Given the description of an element on the screen output the (x, y) to click on. 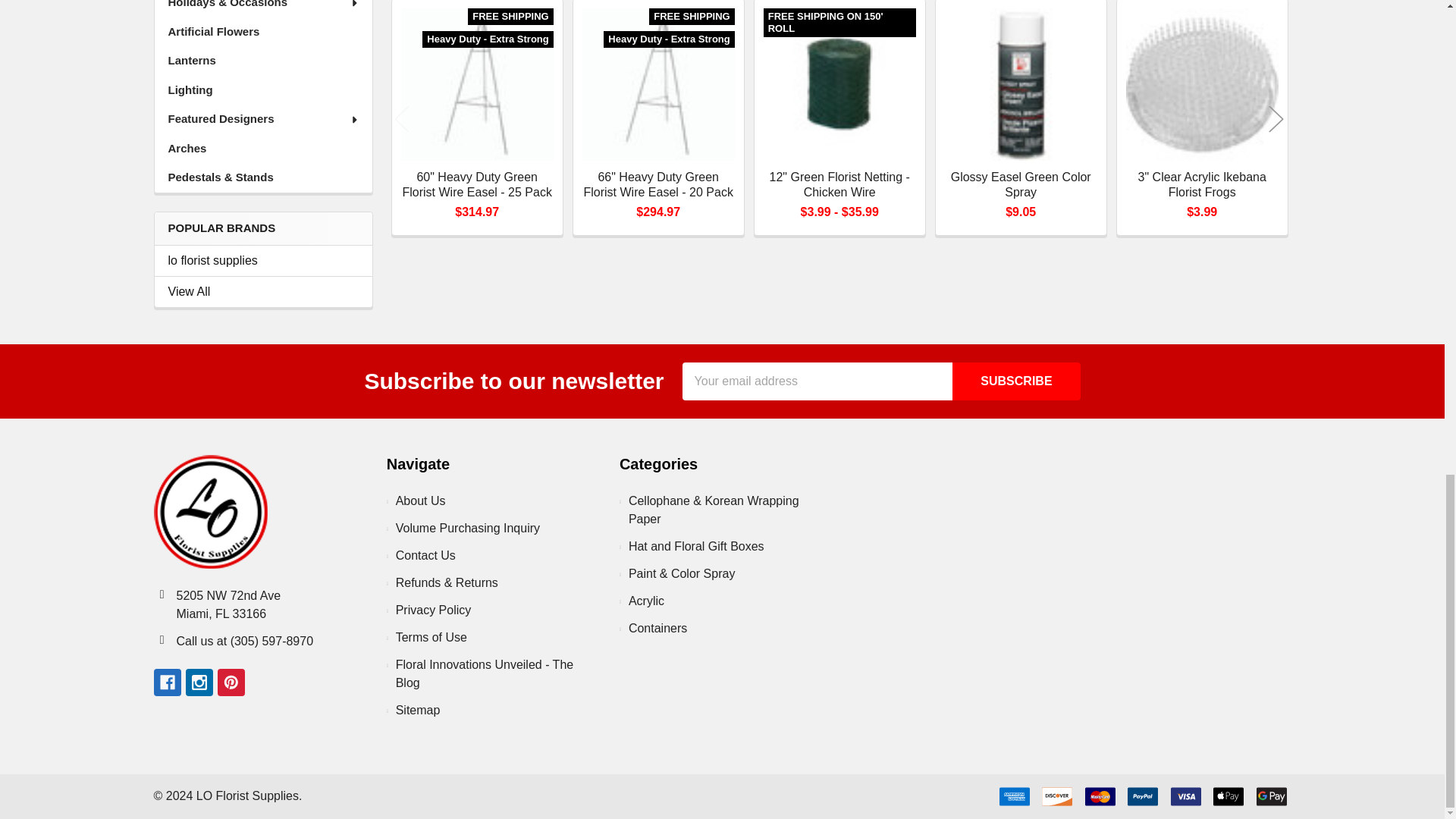
60" Heavy Duty Green Florist Wire Easel - 25 Pack (477, 84)
66" Heavy Duty Green Florist Wire Easel - 20 Pack (658, 84)
lo florist supplies (263, 260)
12" Green Florist Netting - Chicken Wire (838, 84)
Subscribe (1016, 381)
Glossy Easel Green Color Spray (1020, 84)
